Given the description of an element on the screen output the (x, y) to click on. 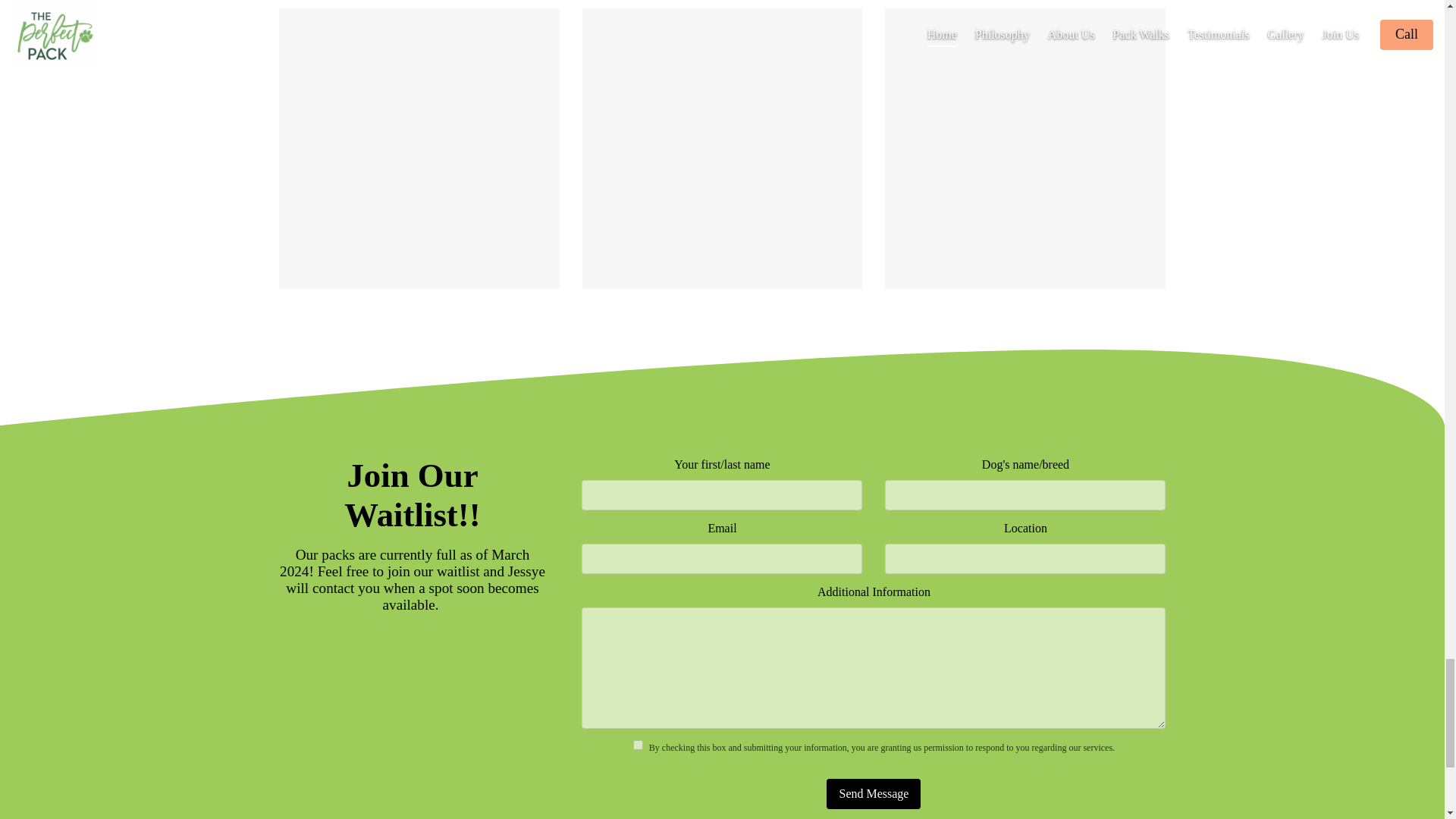
false (638, 745)
Send Message (873, 793)
